Given the description of an element on the screen output the (x, y) to click on. 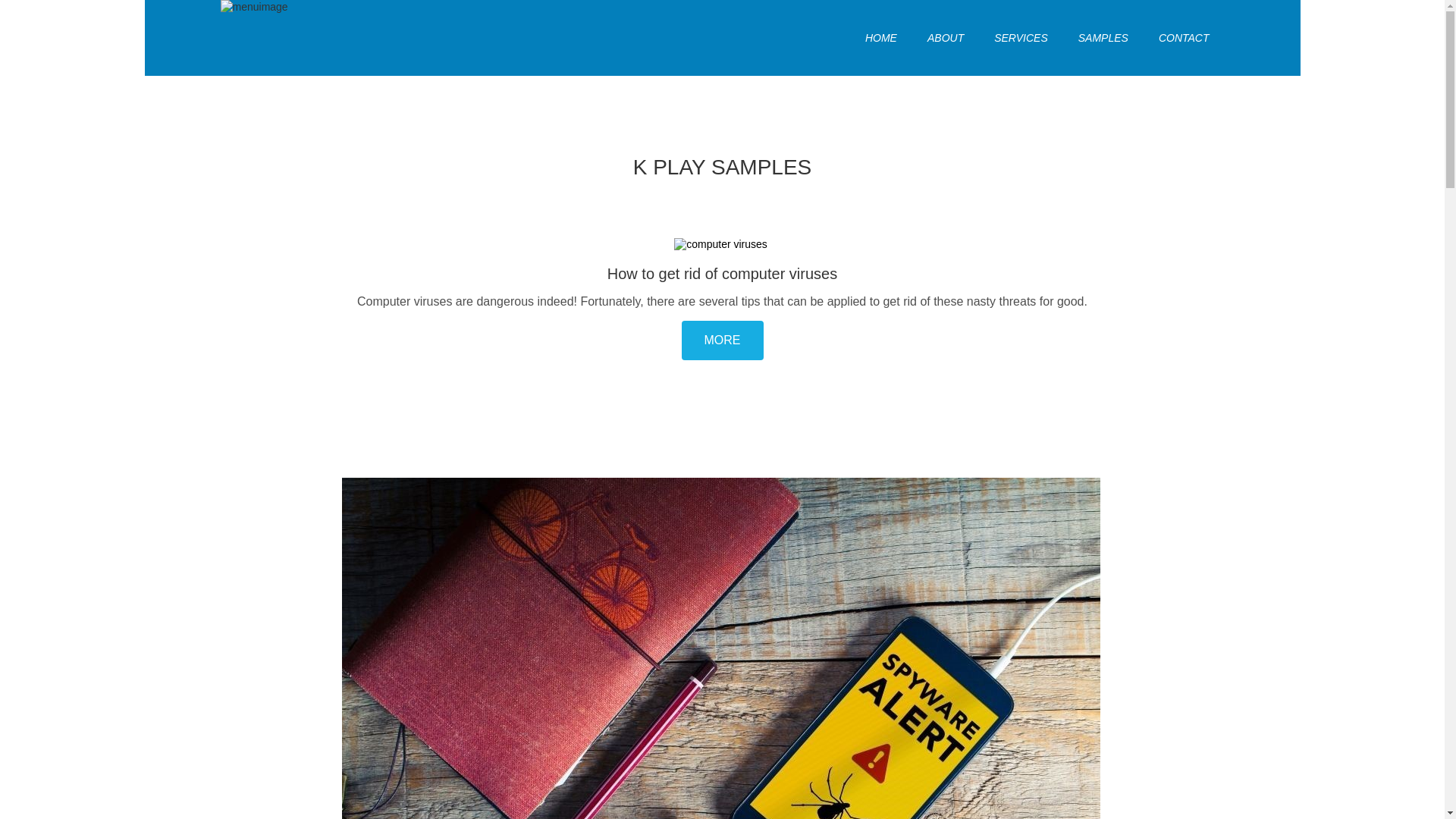
HOME Element type: text (880, 37)
ABOUT Element type: text (945, 37)
MORE Element type: text (721, 339)
SERVICES Element type: text (1020, 37)
CONTACT Element type: text (1184, 37)
SAMPLES Element type: text (1102, 37)
